Given the description of an element on the screen output the (x, y) to click on. 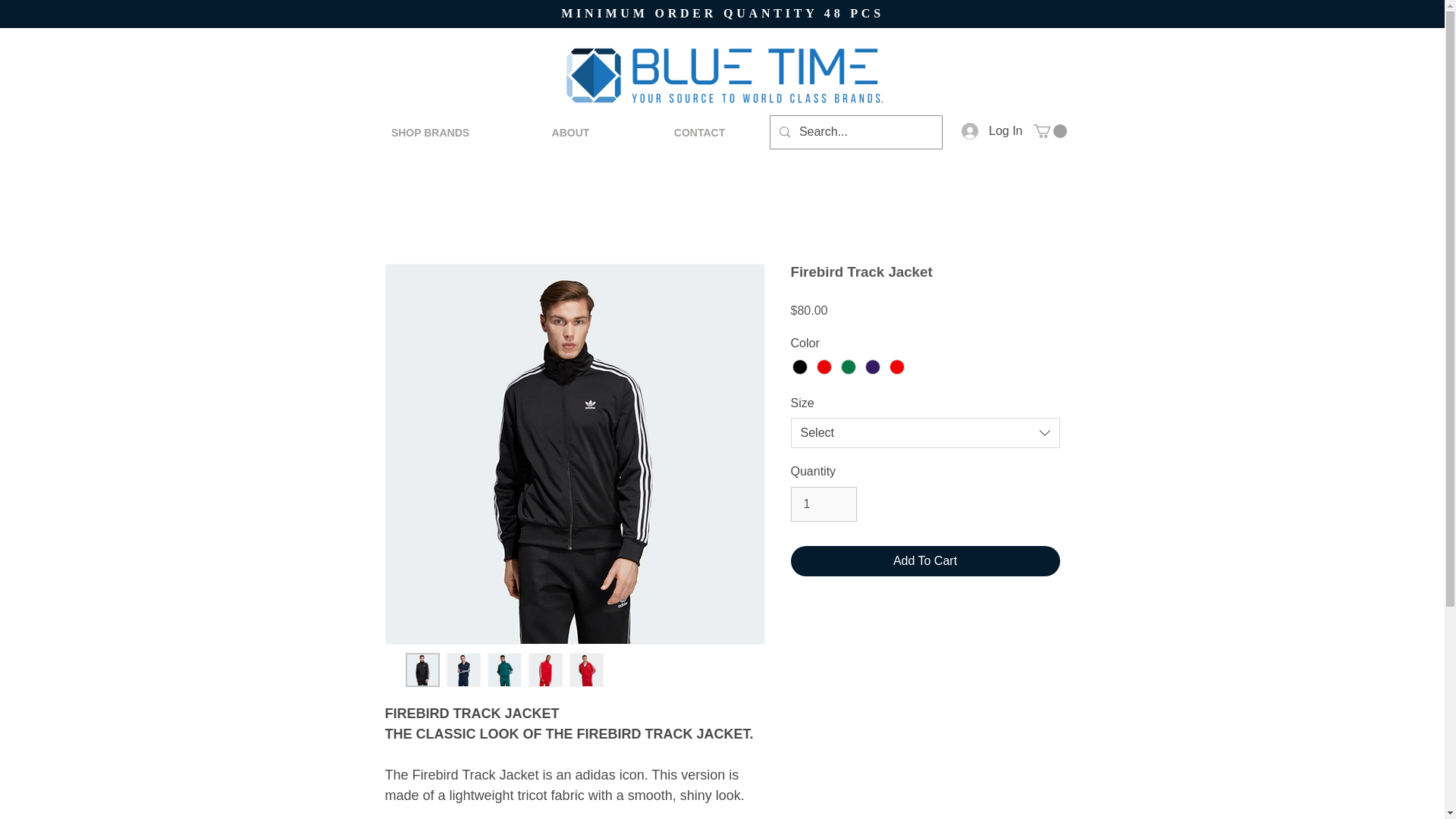
SHOP BRANDS (429, 132)
Log In (991, 130)
ABOUT (569, 132)
Add To Cart (924, 561)
CONTACT (698, 132)
Select (924, 432)
1 (823, 503)
